Given the description of an element on the screen output the (x, y) to click on. 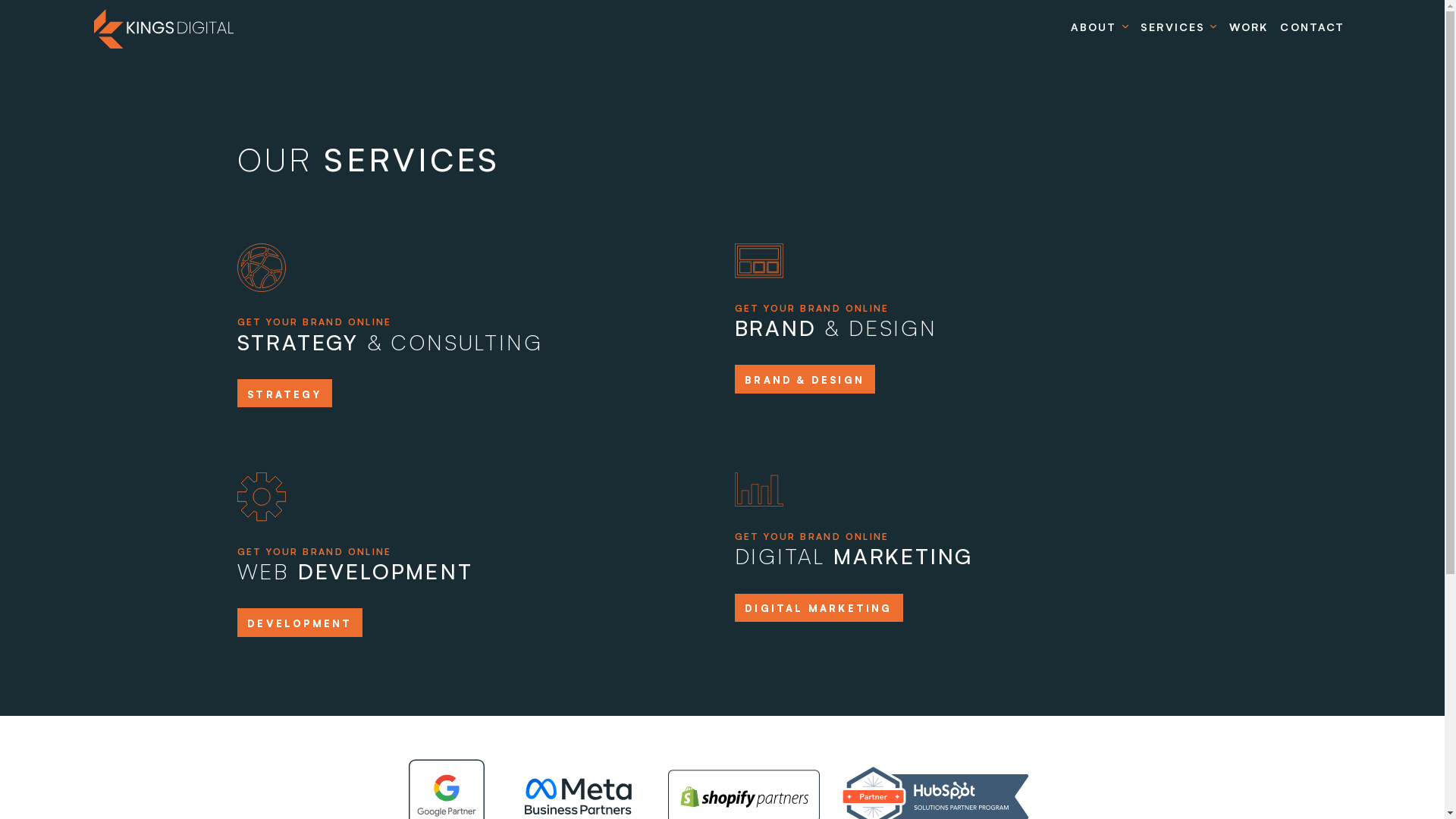
STRATEGY Element type: text (283, 393)
DIGITAL MARKETING Element type: text (818, 607)
SERVICES Element type: text (1178, 26)
ABOUT Element type: text (1099, 26)
CONTACT Element type: text (1312, 26)
BRAND & DESIGN Element type: text (804, 378)
WORK Element type: text (1248, 26)
DEVELOPMENT Element type: text (299, 622)
